Given the description of an element on the screen output the (x, y) to click on. 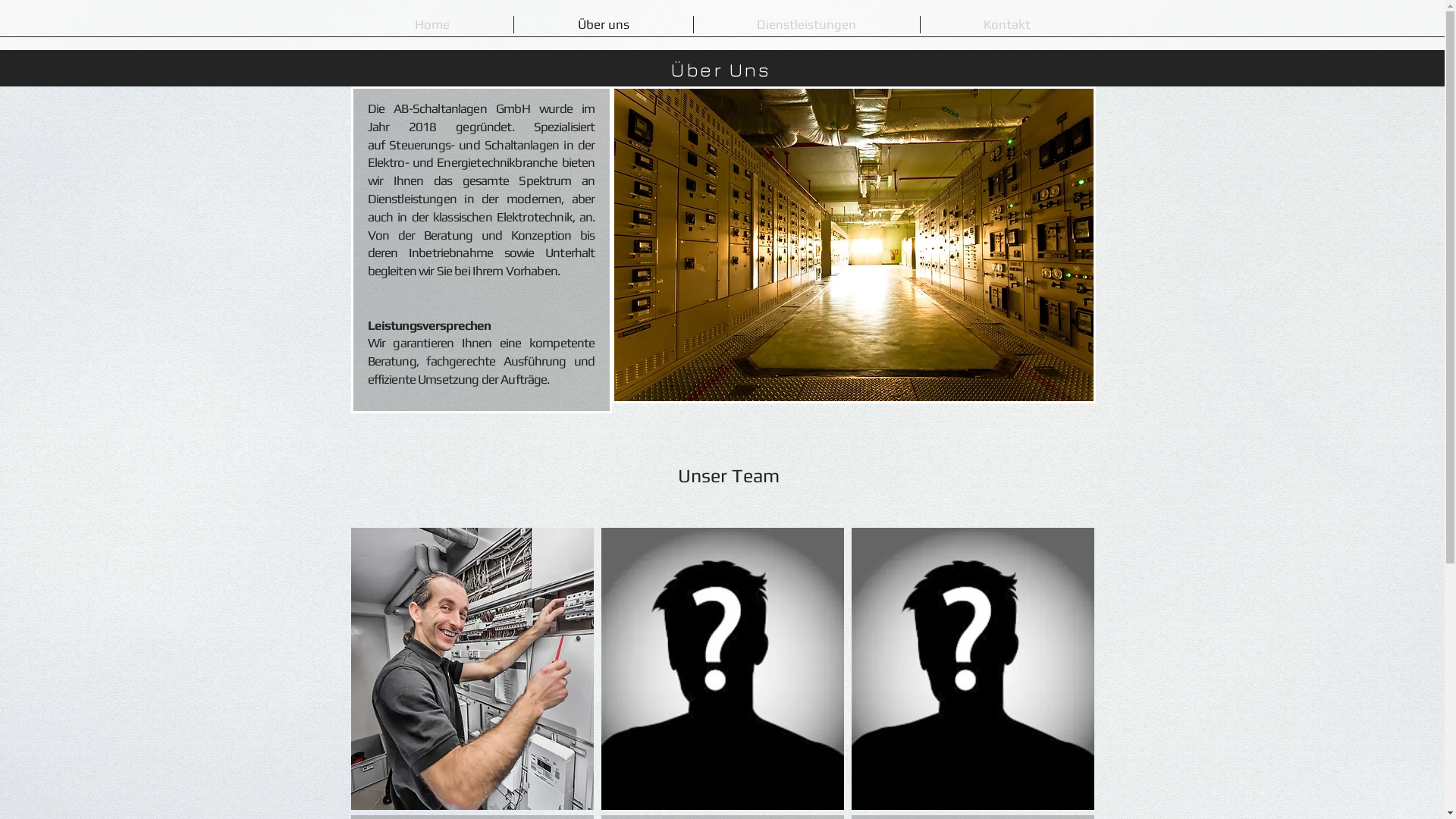
Home Element type: text (431, 24)
Kontakt Element type: text (1007, 24)
Dienstleistungen Element type: text (806, 24)
